Given the description of an element on the screen output the (x, y) to click on. 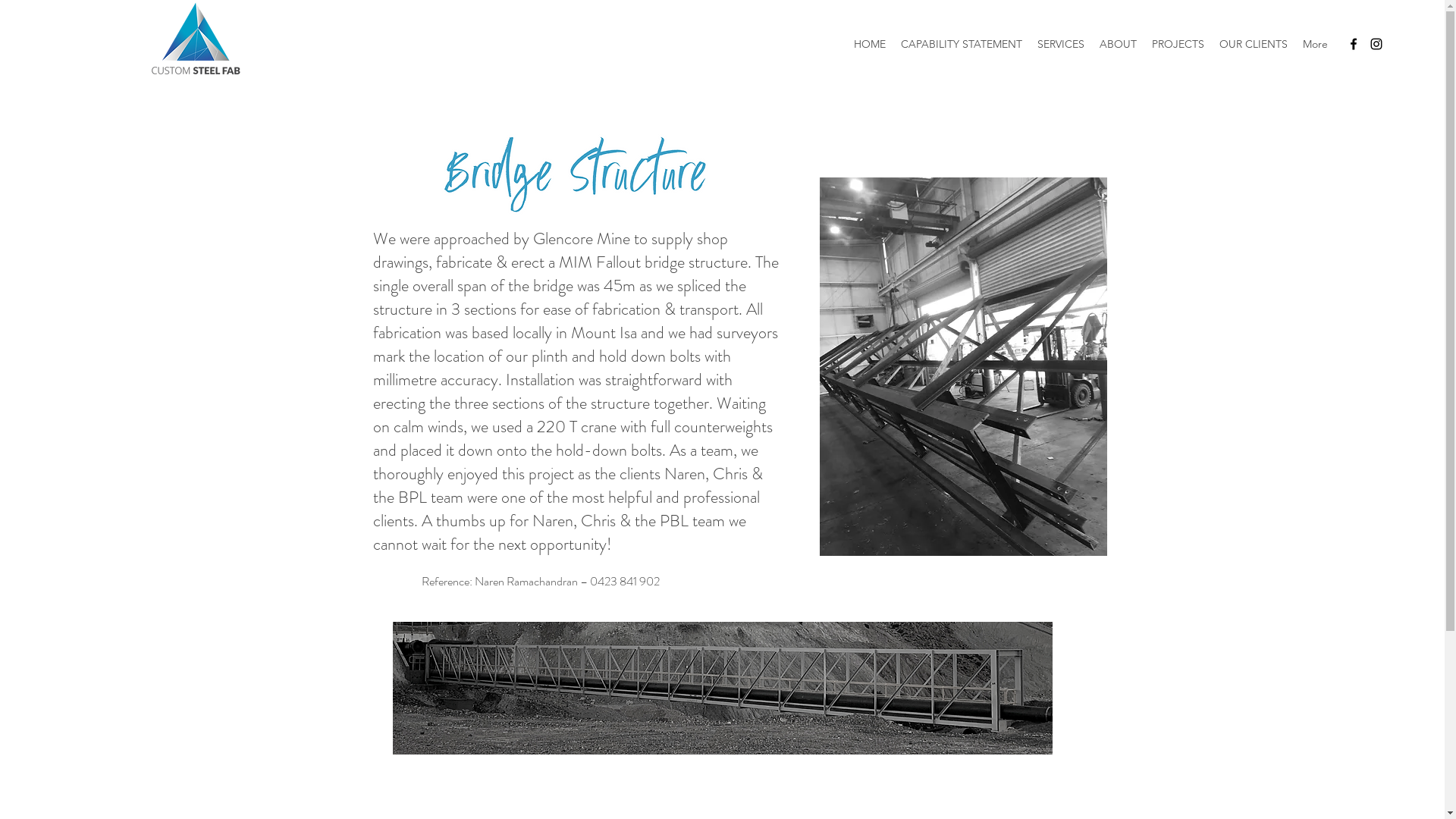
OUR CLIENTS Element type: text (1253, 43)
CAPABILITY STATEMENT Element type: text (961, 43)
HOME Element type: text (869, 43)
SERVICES Element type: text (1060, 43)
ABOUT Element type: text (1118, 43)
PROJECTS Element type: text (1177, 43)
